Given the description of an element on the screen output the (x, y) to click on. 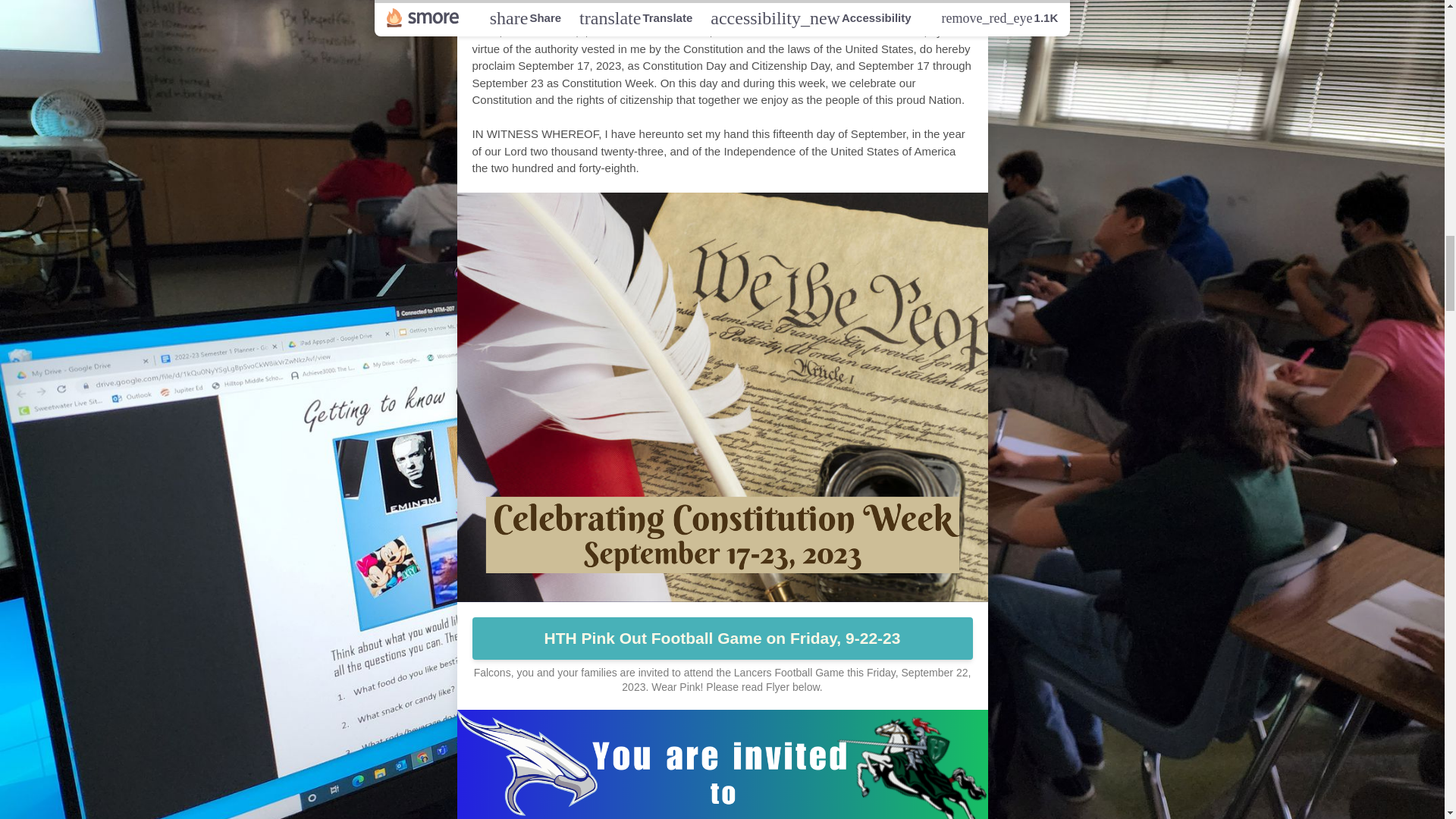
HTH Pink Out Football Game on Friday, 9-22-23 (721, 638)
